Given the description of an element on the screen output the (x, y) to click on. 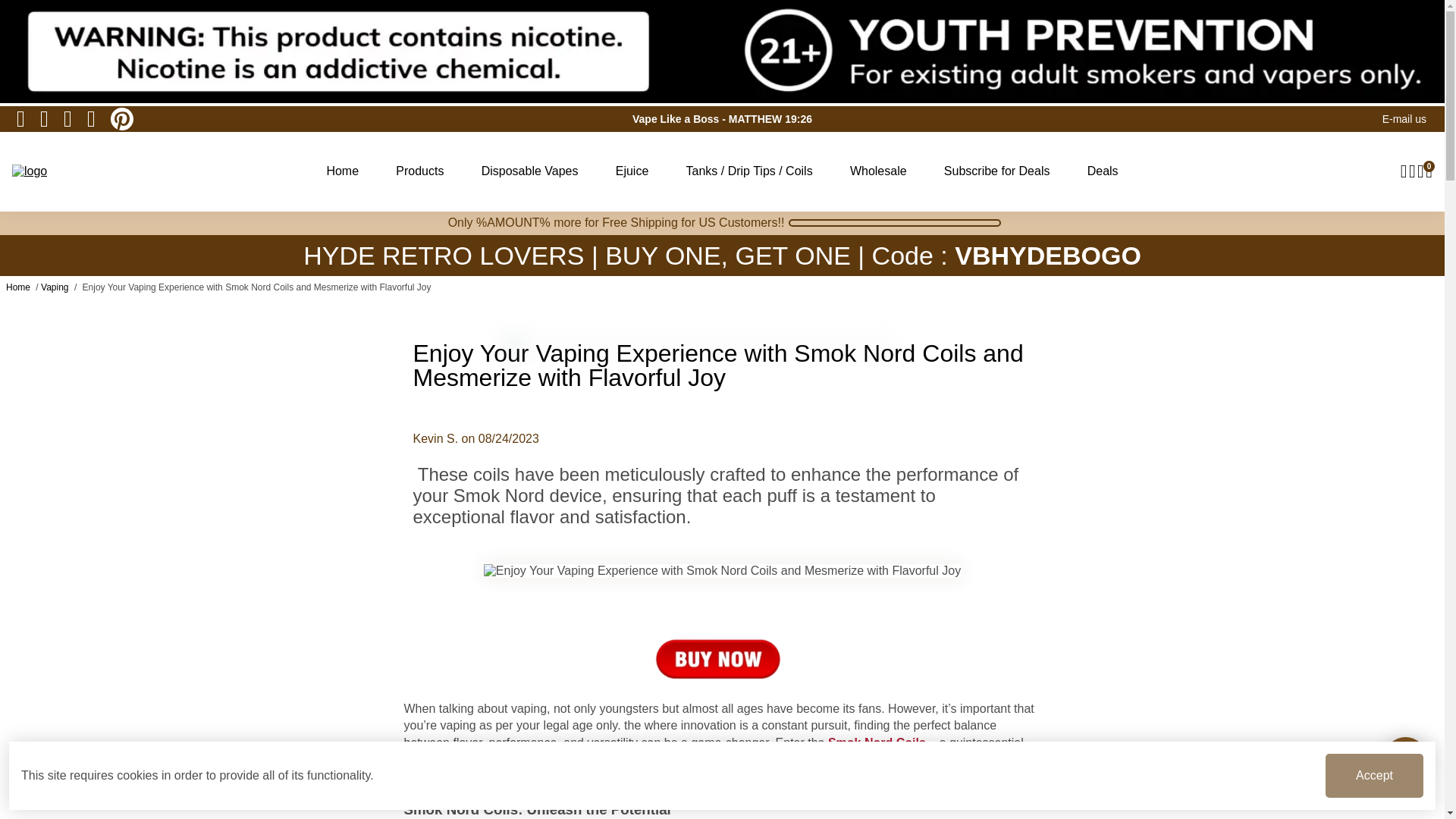
Products (419, 171)
Vape Like a Boss - MATTHEW 19:26 (721, 118)
Disposable Vapes (529, 171)
E-mail us (1403, 118)
Home (17, 286)
Smok Nord Coils (877, 742)
